Given the description of an element on the screen output the (x, y) to click on. 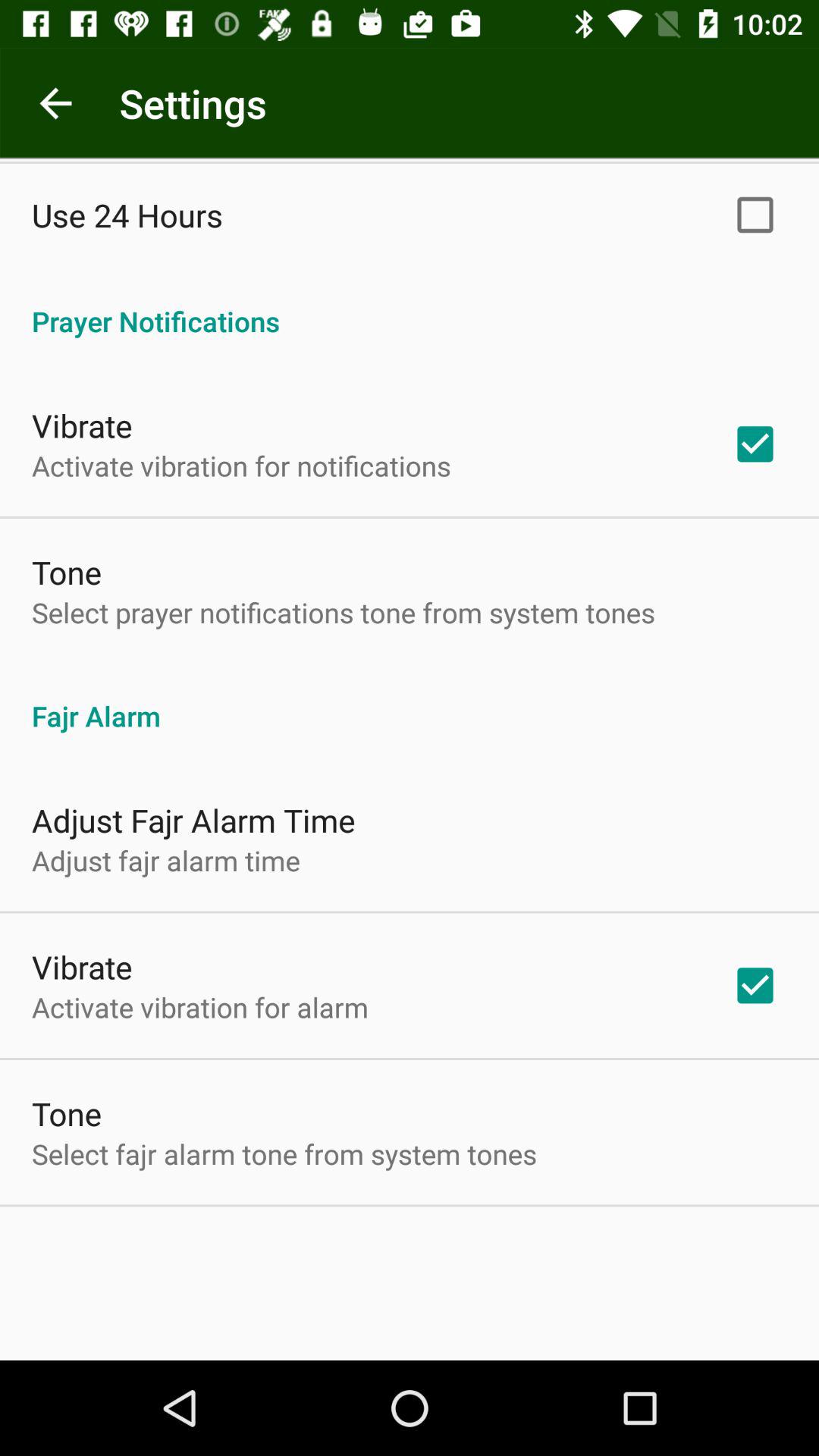
close settings menu (55, 103)
